Given the description of an element on the screen output the (x, y) to click on. 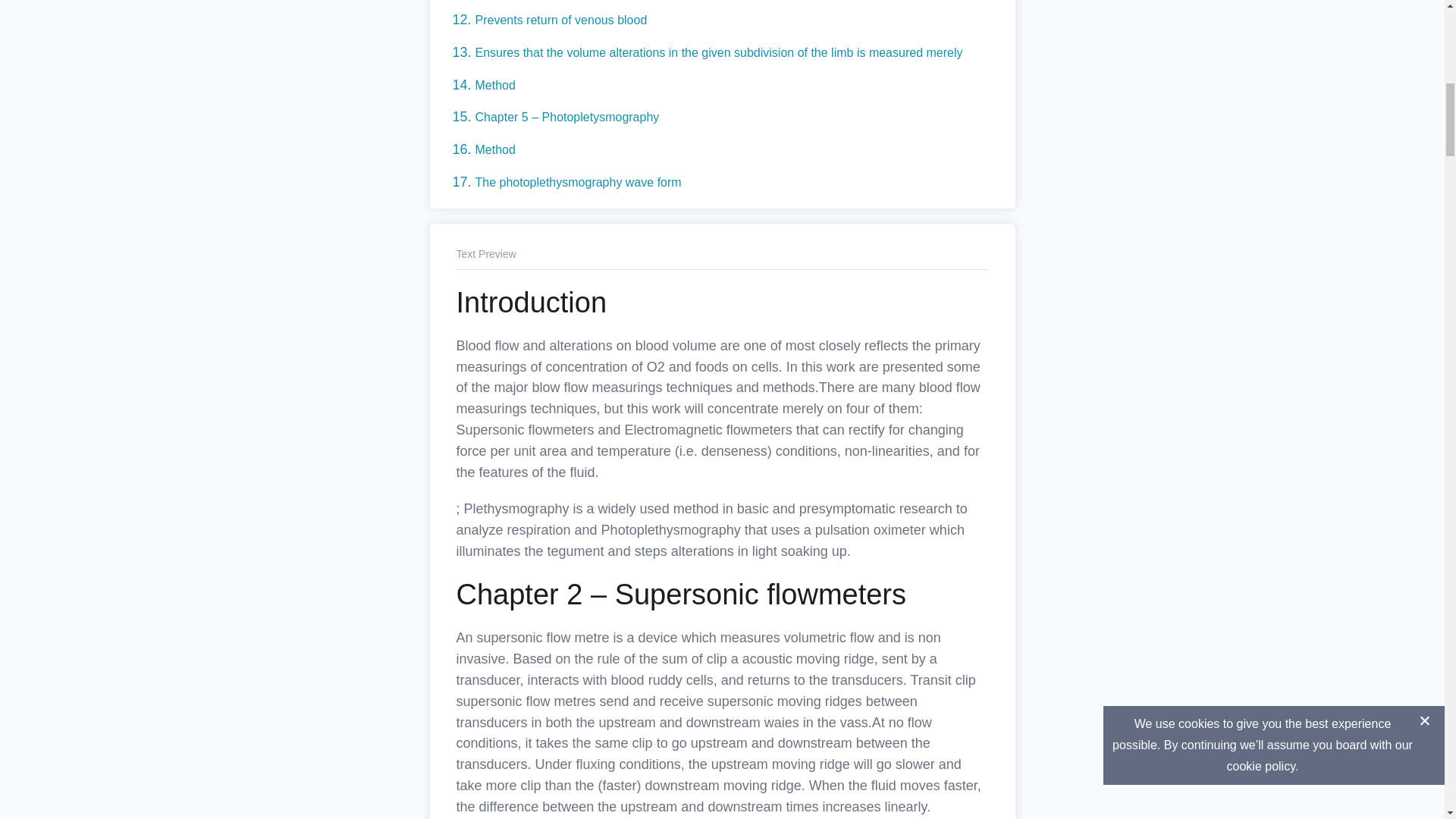
The photoplethysmography wave form (577, 182)
Method (494, 149)
Method (494, 84)
Prevents return of venous blood (560, 19)
